Given the description of an element on the screen output the (x, y) to click on. 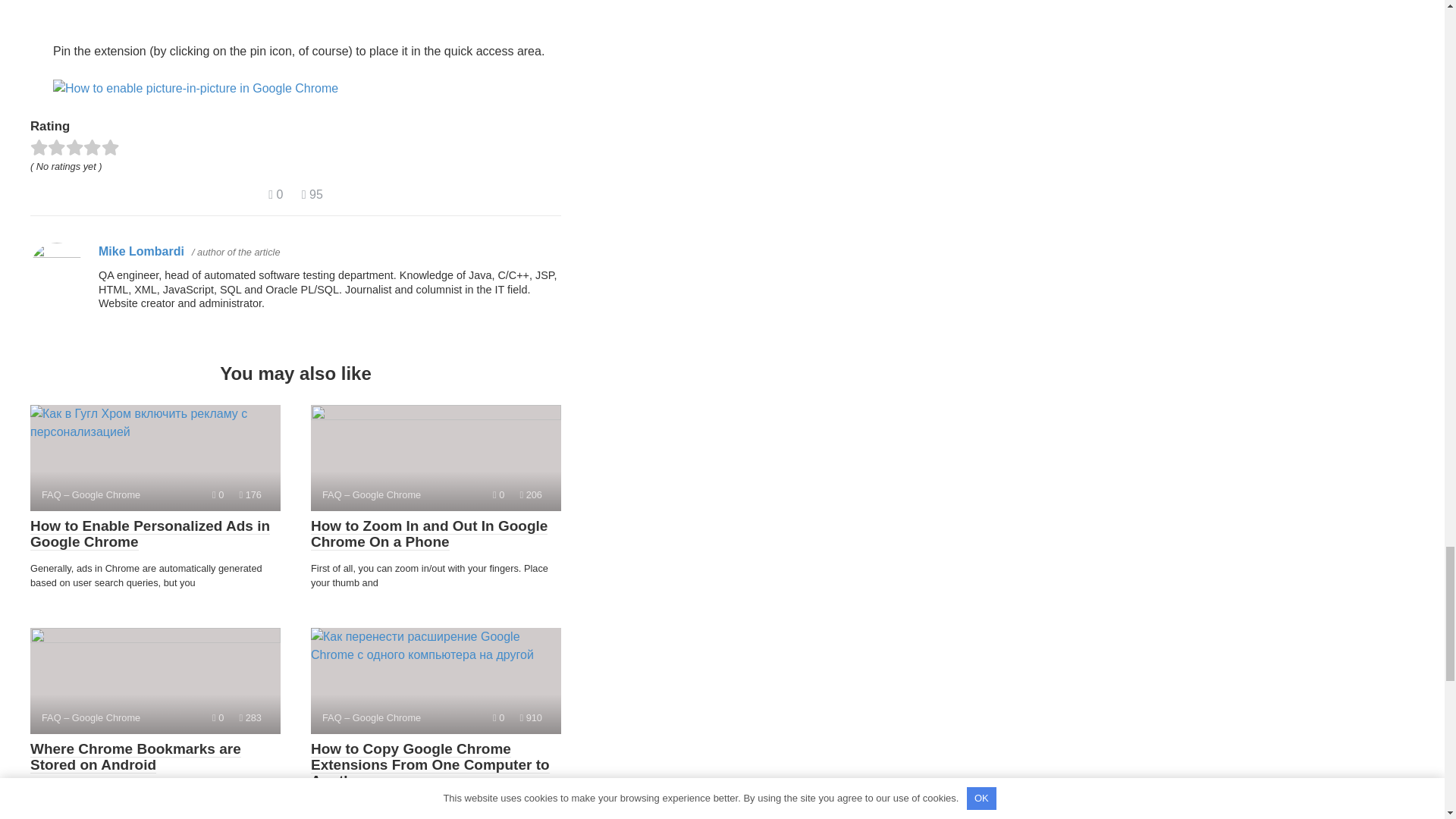
Views (530, 717)
Views (250, 717)
Views (530, 494)
Comments (274, 194)
Comments (218, 494)
Comments (218, 717)
Comments (498, 717)
Comments (498, 494)
Views (250, 494)
Views (312, 194)
